Given the description of an element on the screen output the (x, y) to click on. 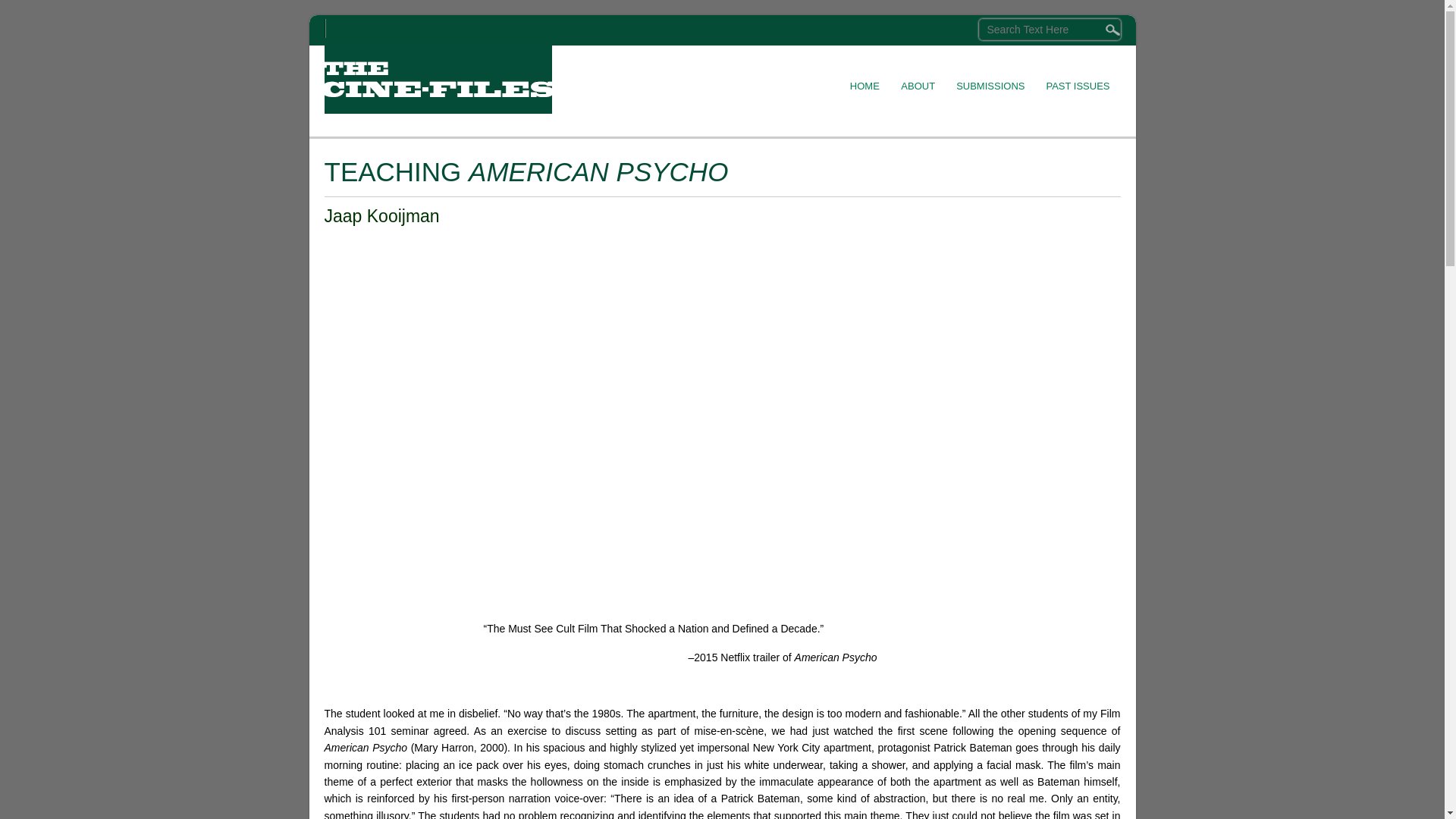
SUBMISSIONS (989, 75)
PAST ISSUES (1077, 75)
Search (33, 13)
